Given the description of an element on the screen output the (x, y) to click on. 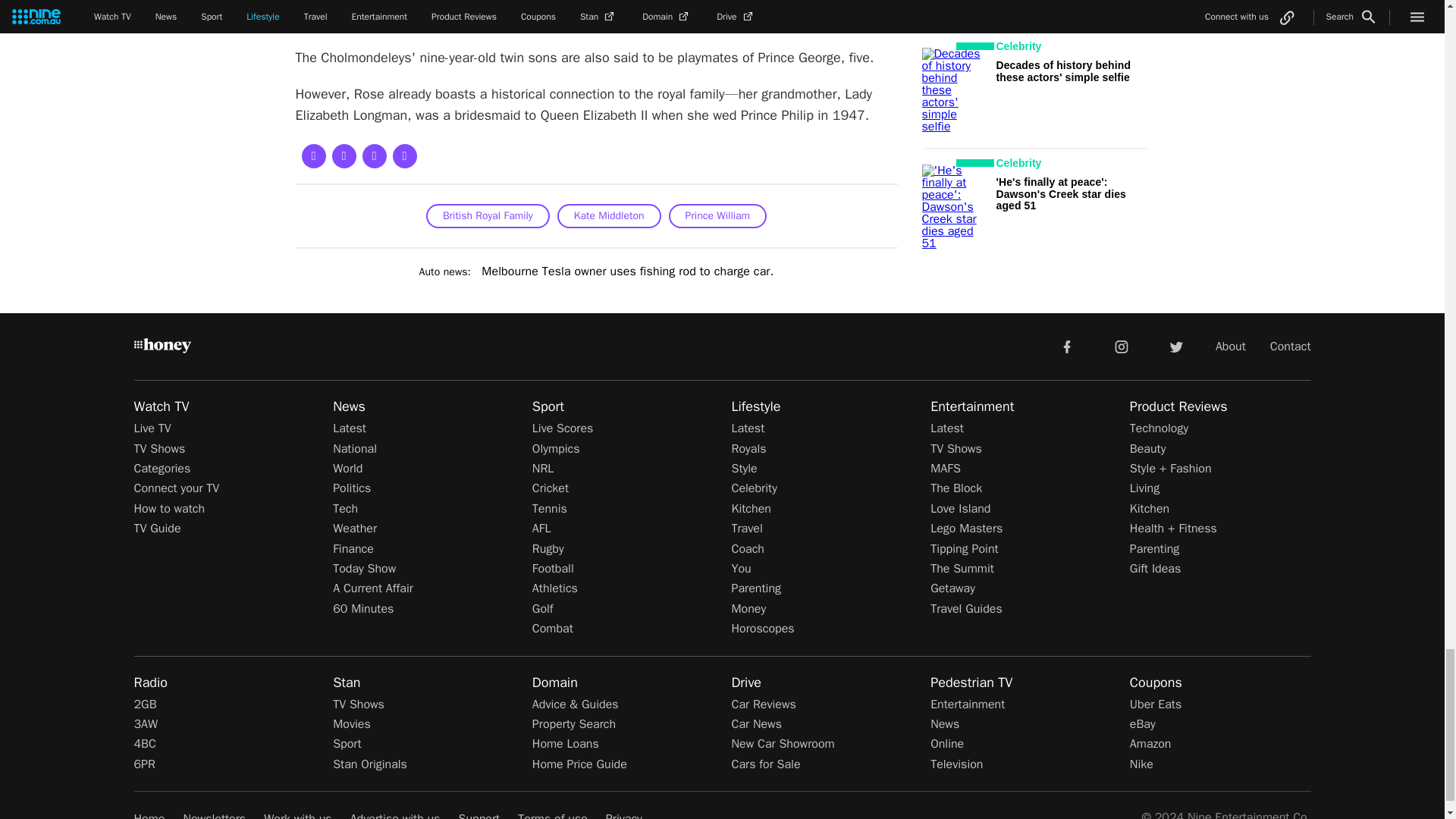
British Royal Family (488, 215)
facebook (1066, 345)
instagram (1121, 345)
twitter (1175, 345)
Prince William (717, 215)
Kate Middleton (609, 215)
